Given the description of an element on the screen output the (x, y) to click on. 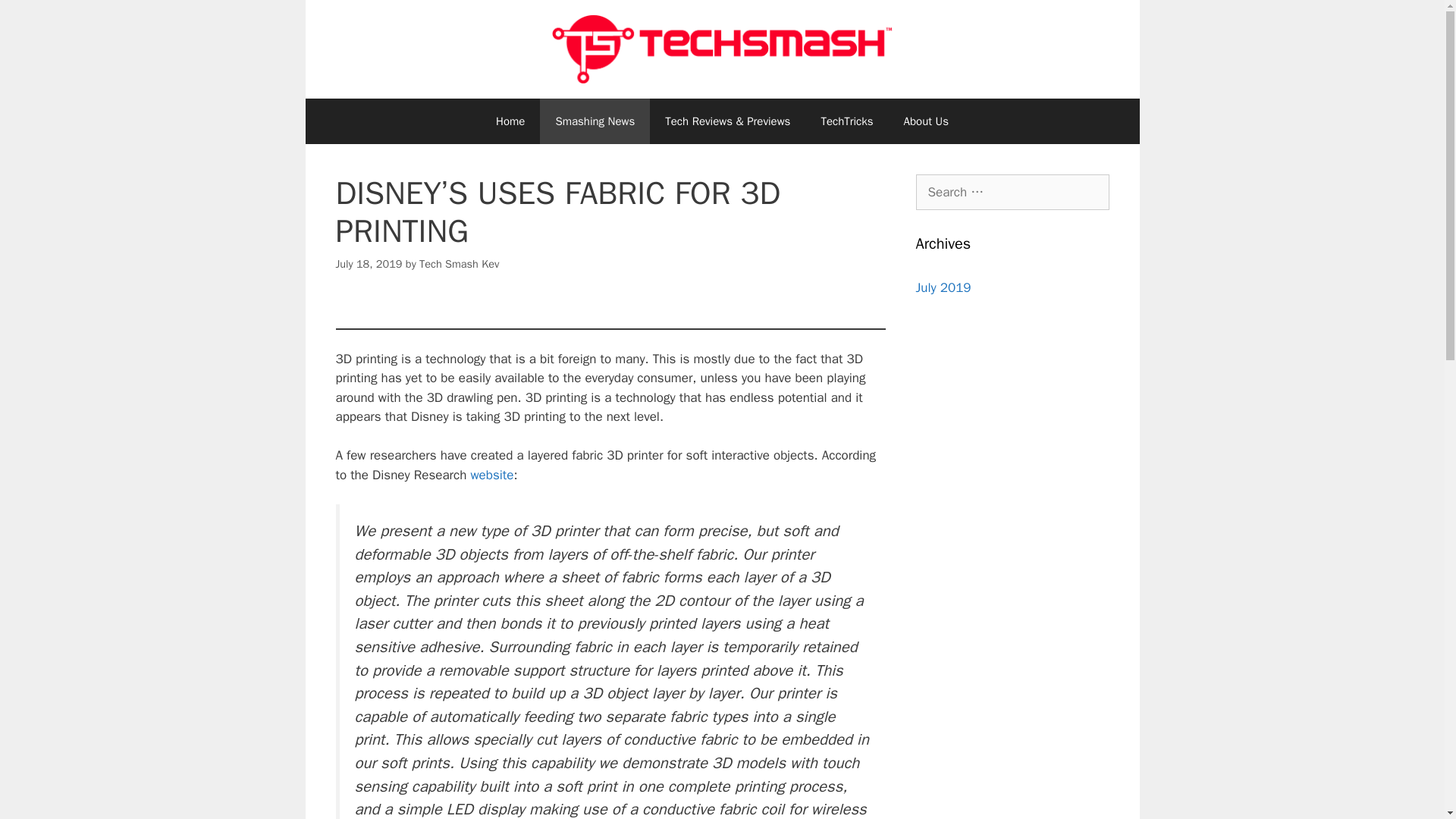
Search for: (1012, 192)
Home (510, 121)
TechTricks (846, 121)
Tech Smash Kev (459, 264)
Search (35, 18)
About Us (925, 121)
View all posts by Tech Smash Kev (459, 264)
Smashing News (594, 121)
July 2019 (943, 287)
website (491, 474)
